Given the description of an element on the screen output the (x, y) to click on. 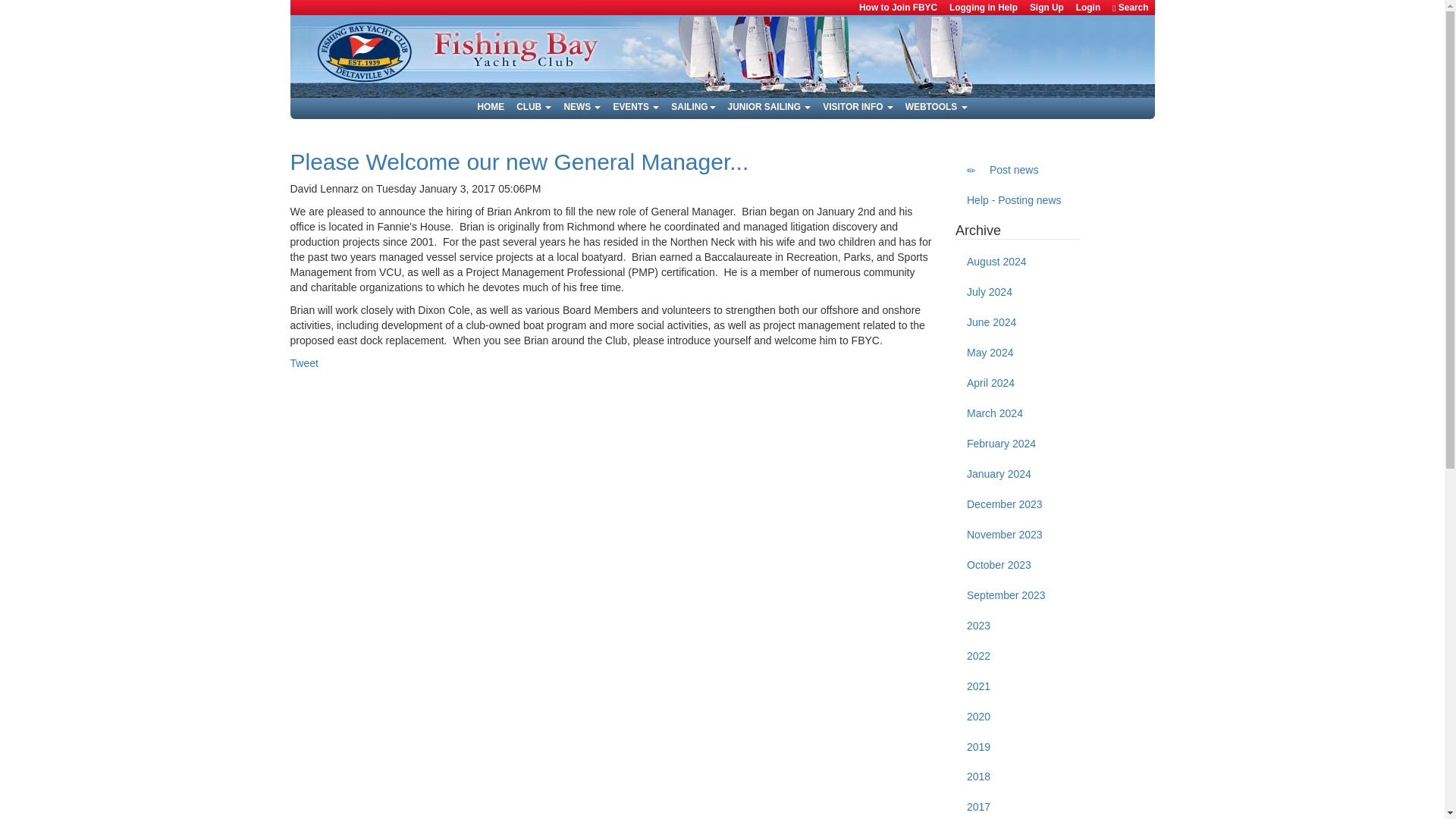
Login (1088, 7)
Sign Up (1046, 7)
NEWS (582, 106)
November 2023 (1017, 535)
August 2024 (1017, 262)
December 2023 (1017, 504)
October 2023 (1017, 565)
July 2024 (1017, 292)
June 2024 (1017, 322)
HOME (490, 106)
